Given the description of an element on the screen output the (x, y) to click on. 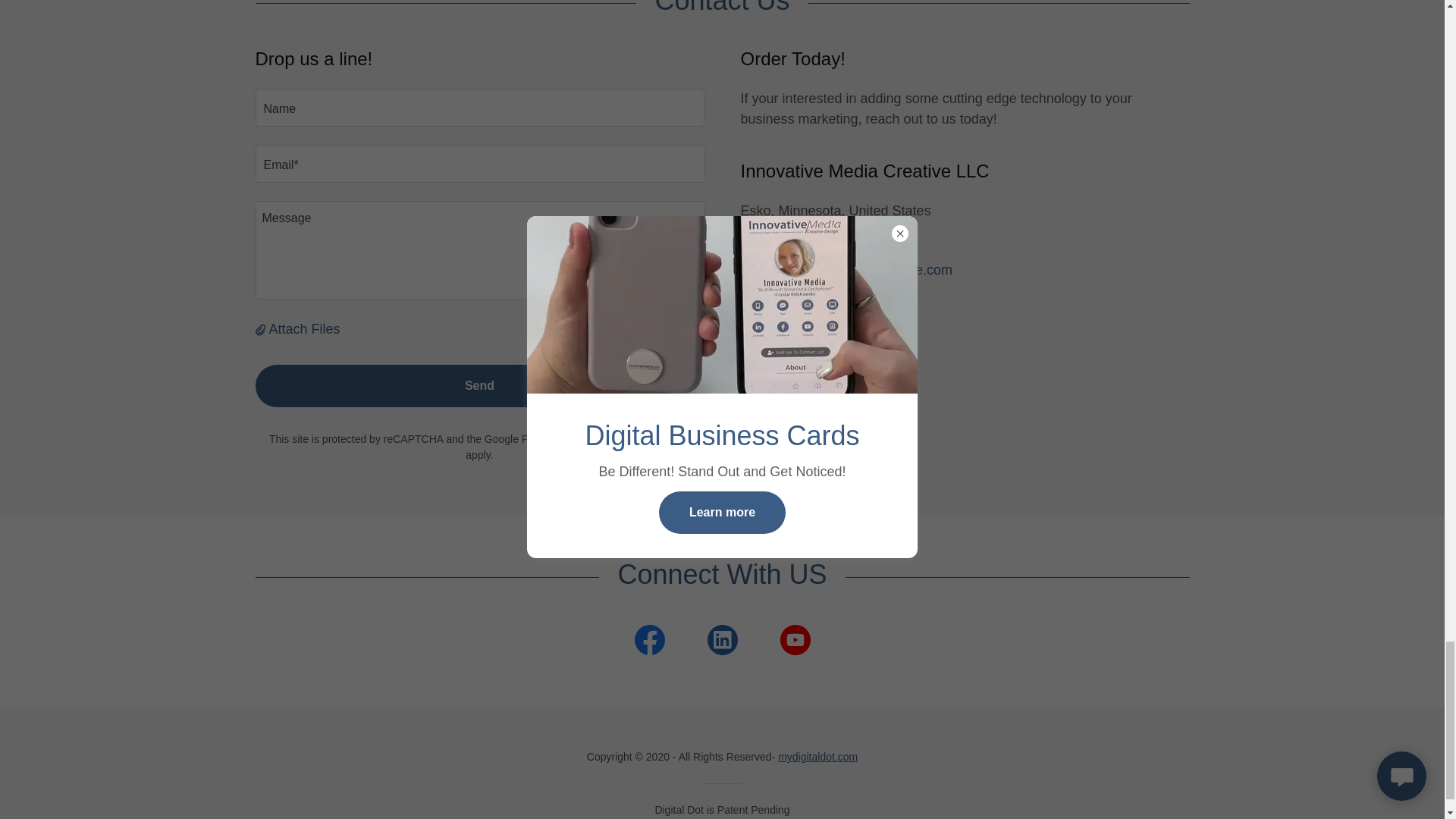
218-341-3784 (782, 249)
Terms of Service (650, 439)
Privacy Policy (554, 439)
innovativemediacreative.com (827, 310)
Send (478, 385)
myinnovativecard.com (807, 331)
mydigitaldot.com (817, 756)
